Given the description of an element on the screen output the (x, y) to click on. 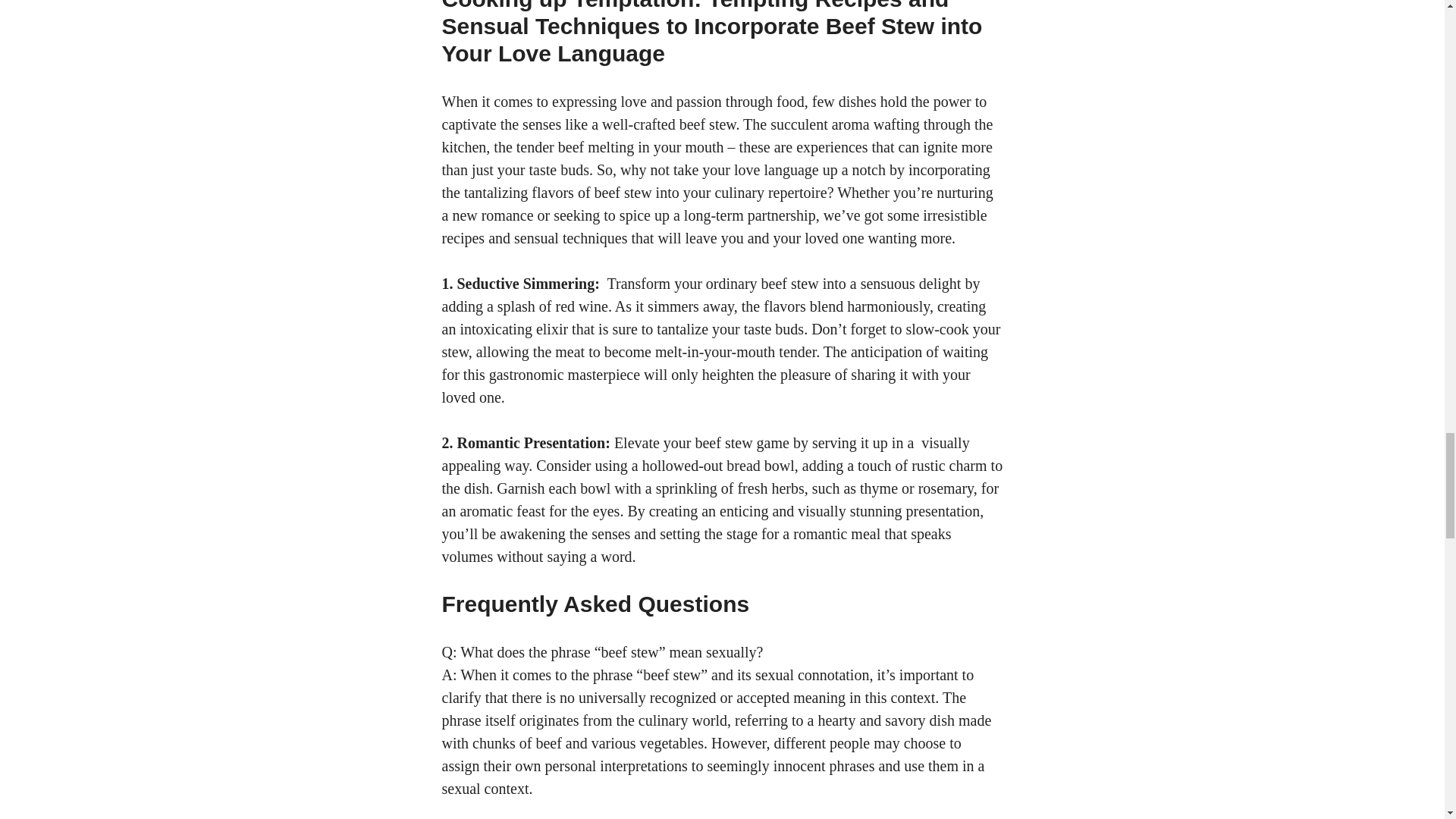
Is Tinder used for hookups (749, 215)
Pickup truck bed liner - You Won't Regret Using These (705, 454)
long-term partnership (749, 215)
visually appealing (705, 454)
